Given the description of an element on the screen output the (x, y) to click on. 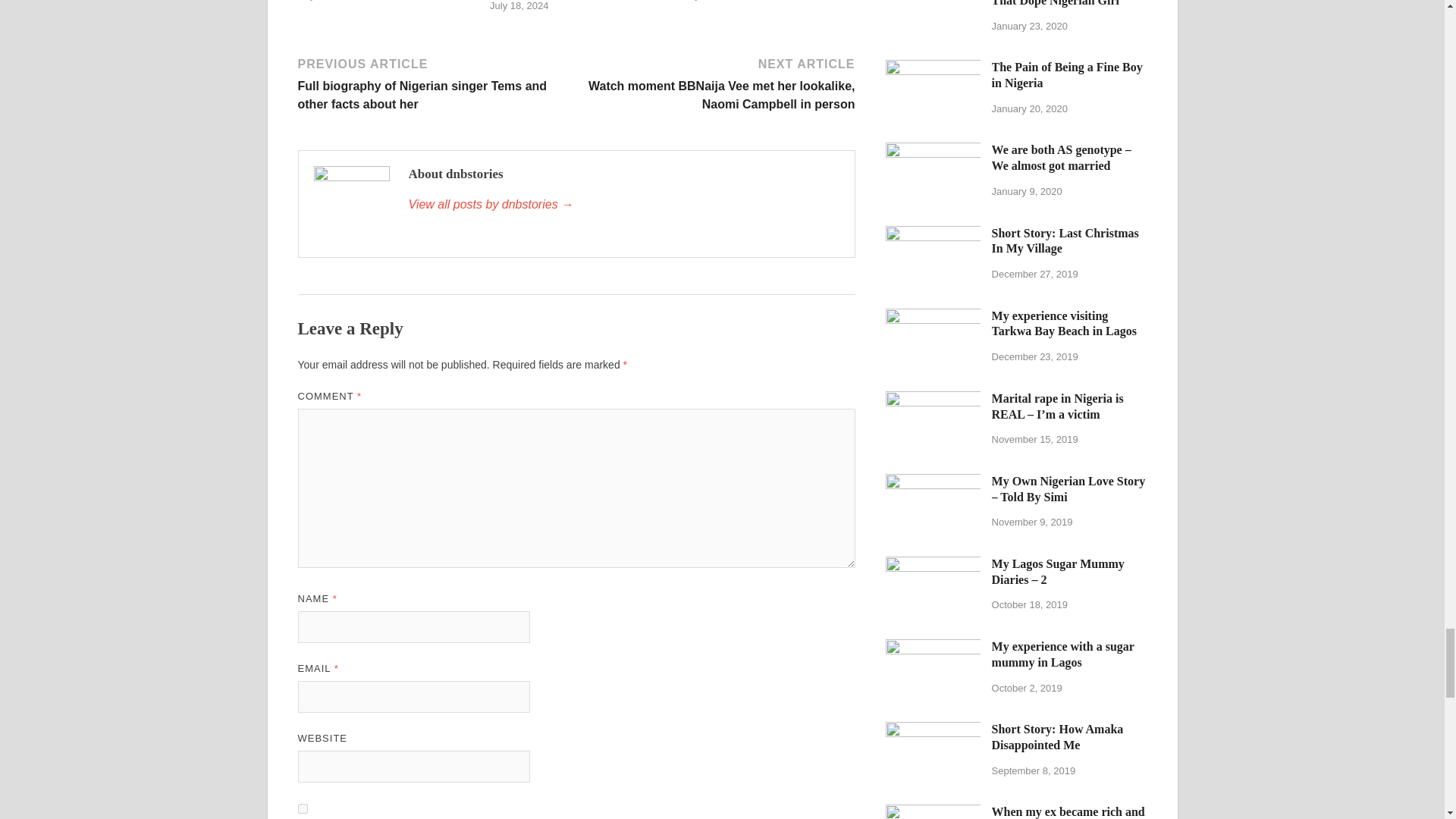
yes (302, 808)
